Given the description of an element on the screen output the (x, y) to click on. 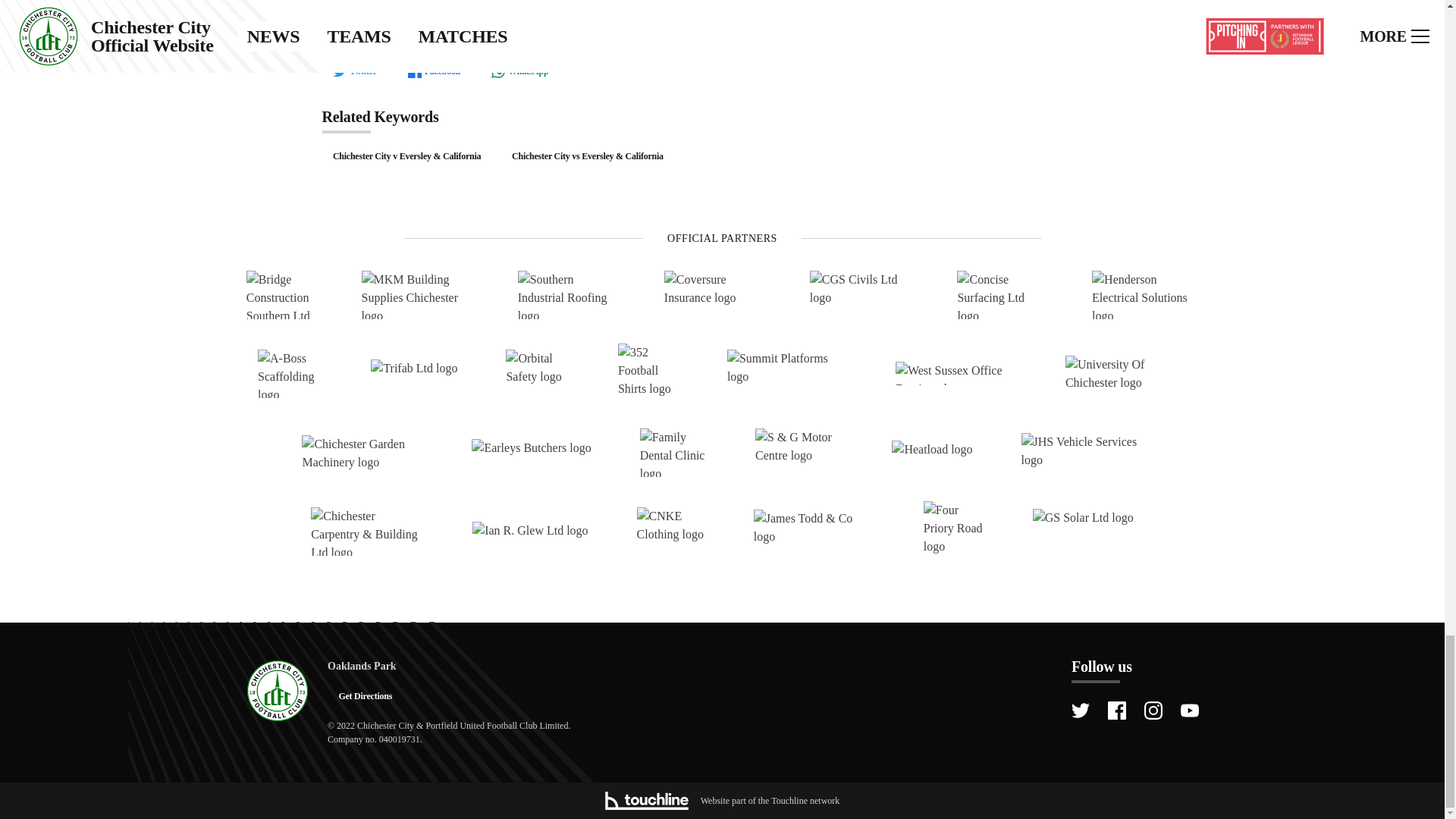
Twitter (354, 71)
Facebook (433, 71)
Find us on Twitter (1080, 710)
Find us on YouTube (1189, 710)
Find us on Instagram (1152, 710)
WhatsApp (519, 71)
Find us on Facebook (1116, 710)
